Given the description of an element on the screen output the (x, y) to click on. 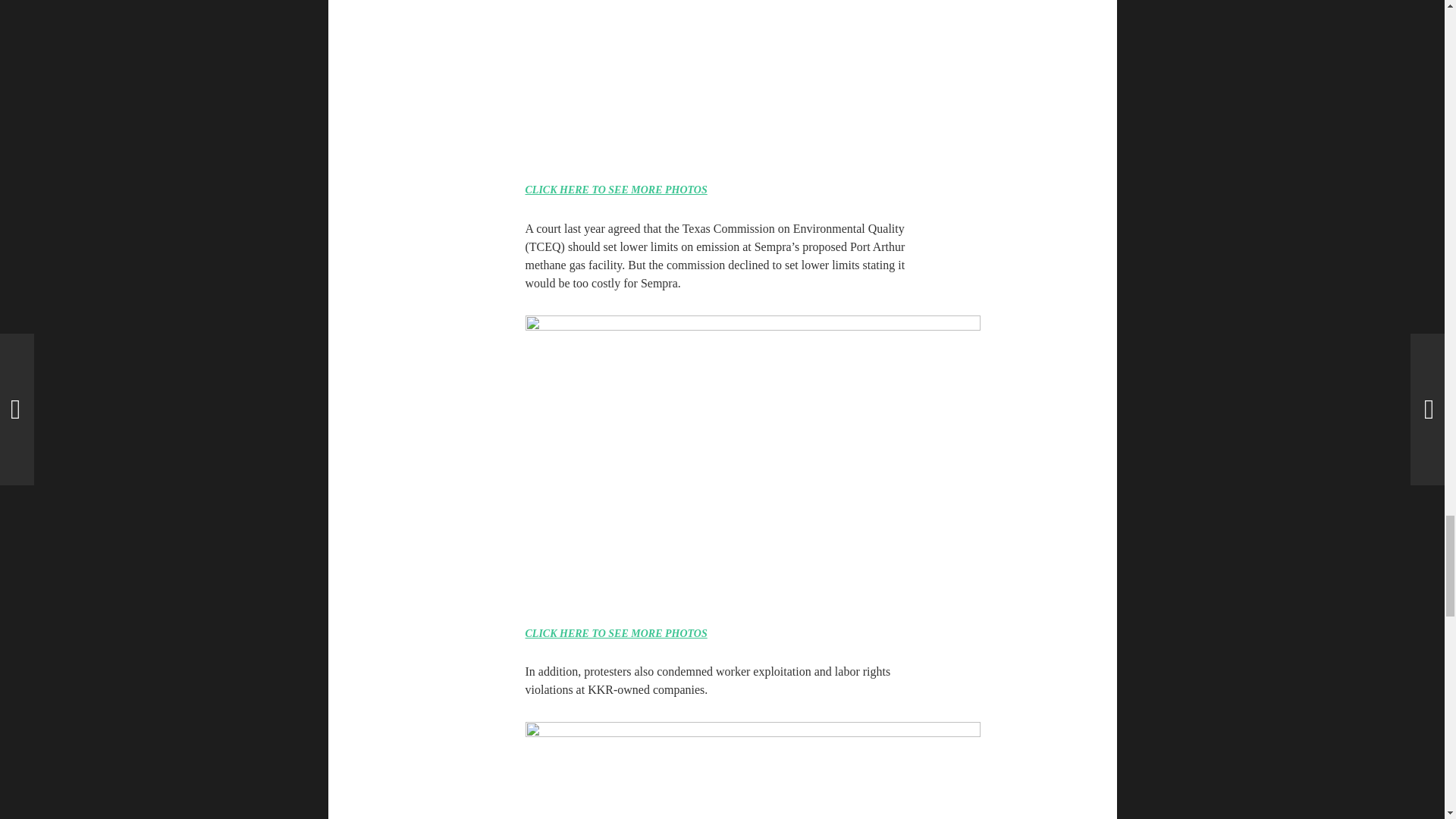
CLICK HERE TO SEE MORE PHOTOS (615, 633)
CLICK HERE TO SEE MORE PHOTOS (615, 189)
